Given the description of an element on the screen output the (x, y) to click on. 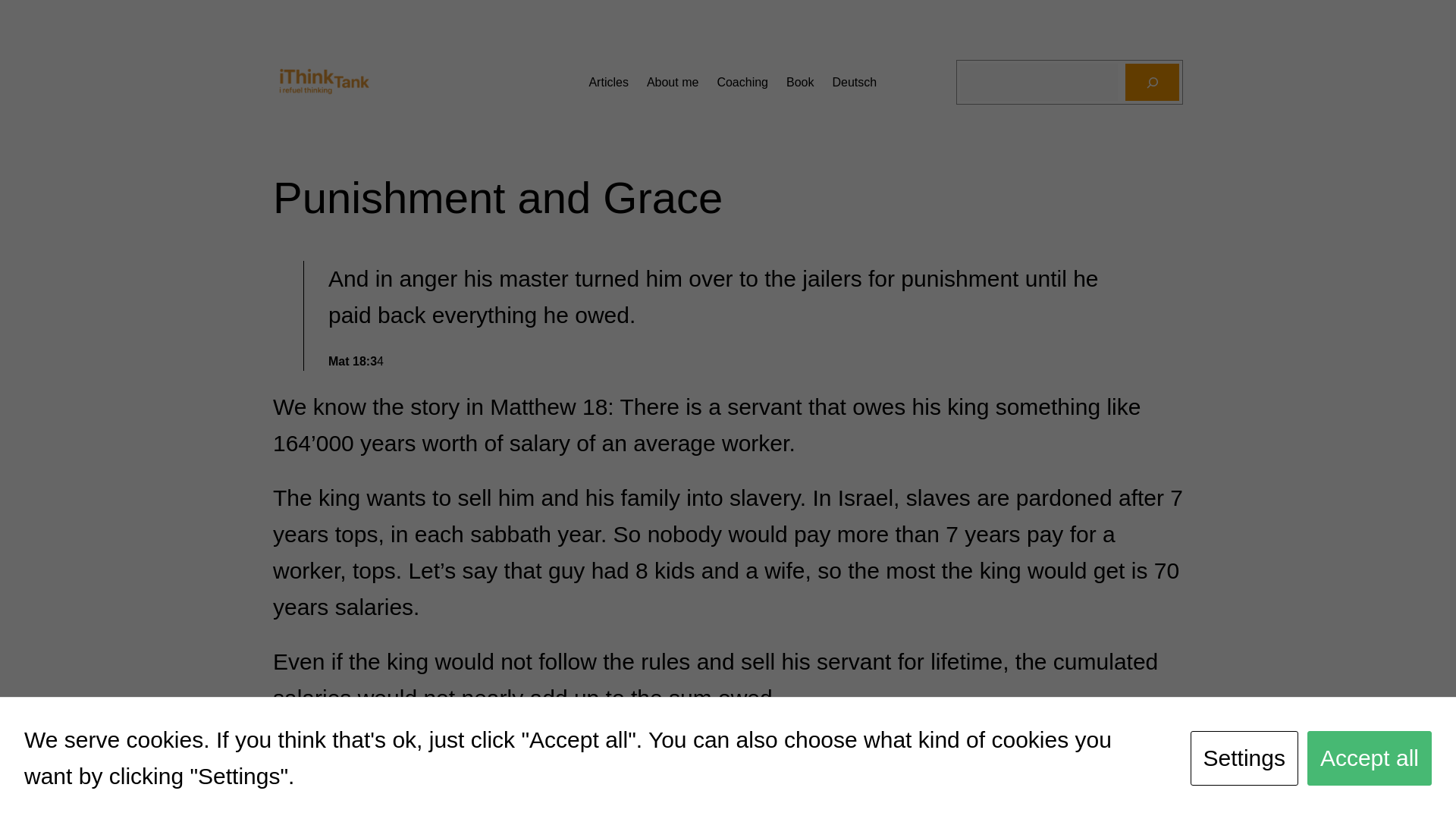
Accept all (1369, 758)
Articles (607, 82)
Settings (1244, 758)
Coaching (742, 82)
About me (672, 82)
Deutsch (853, 82)
Book (799, 82)
